Given the description of an element on the screen output the (x, y) to click on. 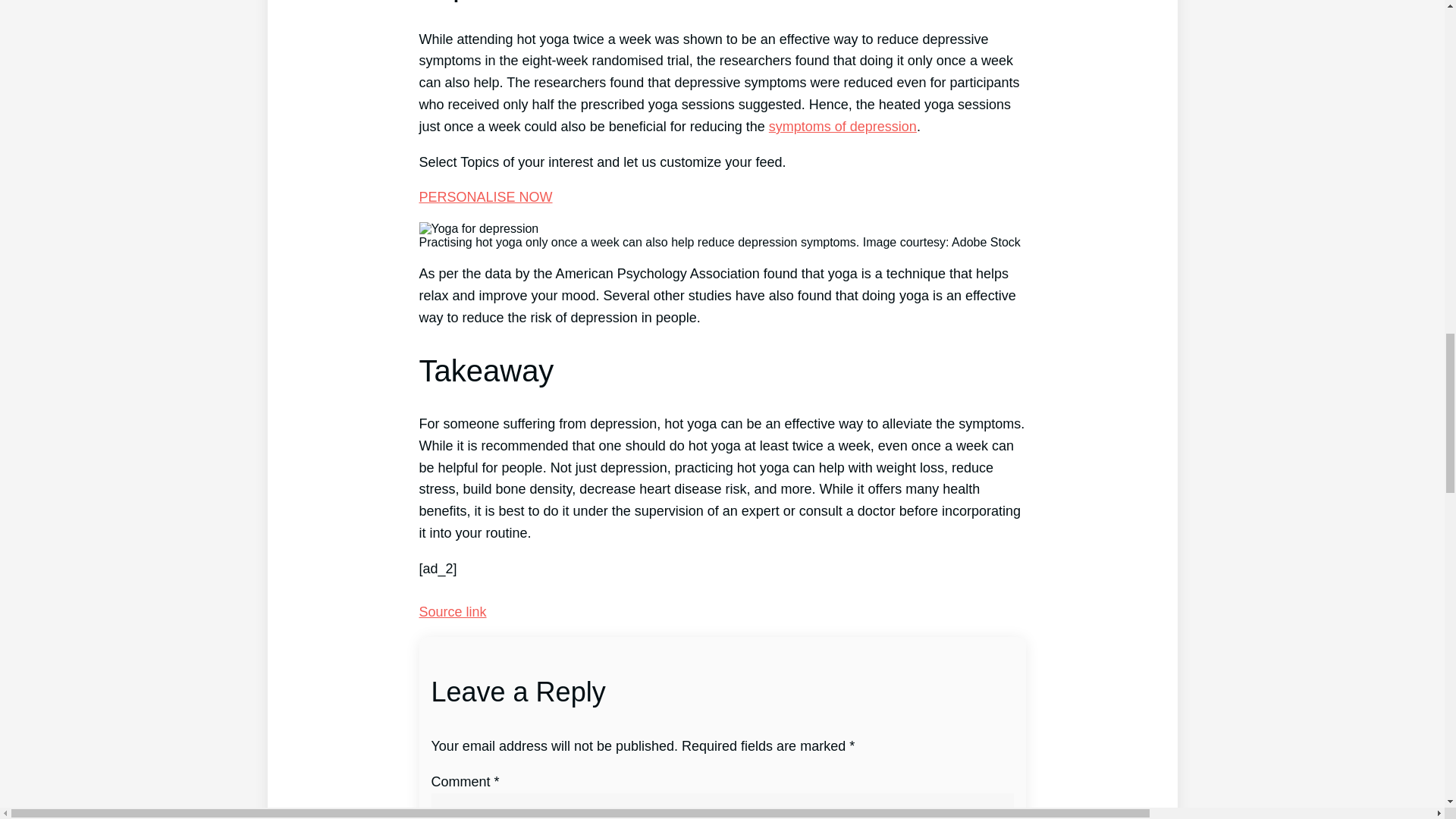
symptoms of depression (842, 126)
Yoga for depression (478, 228)
PERSONALISE NOW (485, 196)
Source link (452, 611)
